Given the description of an element on the screen output the (x, y) to click on. 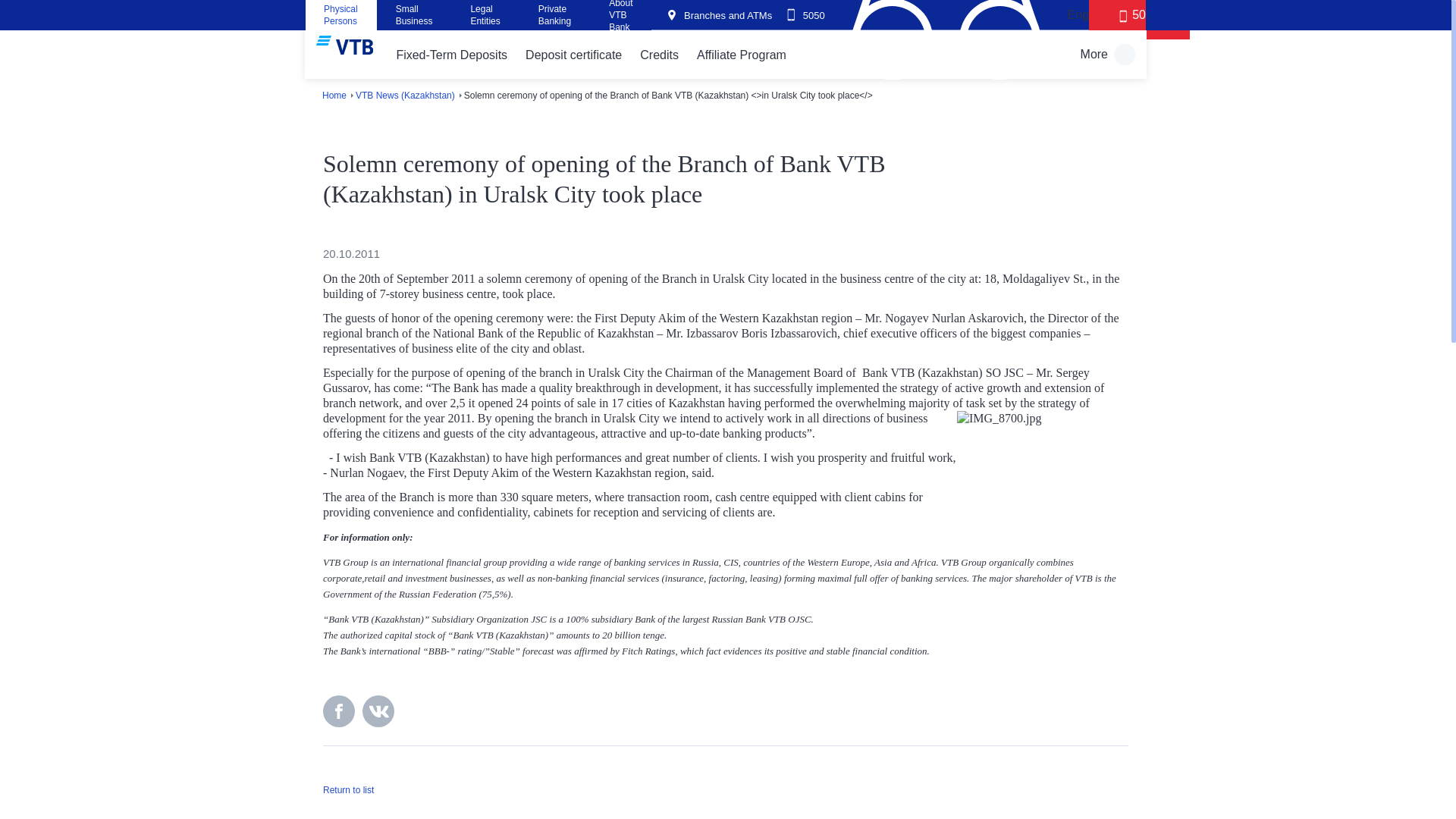
Home (333, 95)
About VTB Bank (619, 21)
Small Business (414, 18)
Legal Entities (484, 18)
Physical Persons (340, 18)
Private Banking (554, 18)
5050 (806, 15)
5050 (1139, 19)
Branches and ATMs (719, 15)
